Given the description of an element on the screen output the (x, y) to click on. 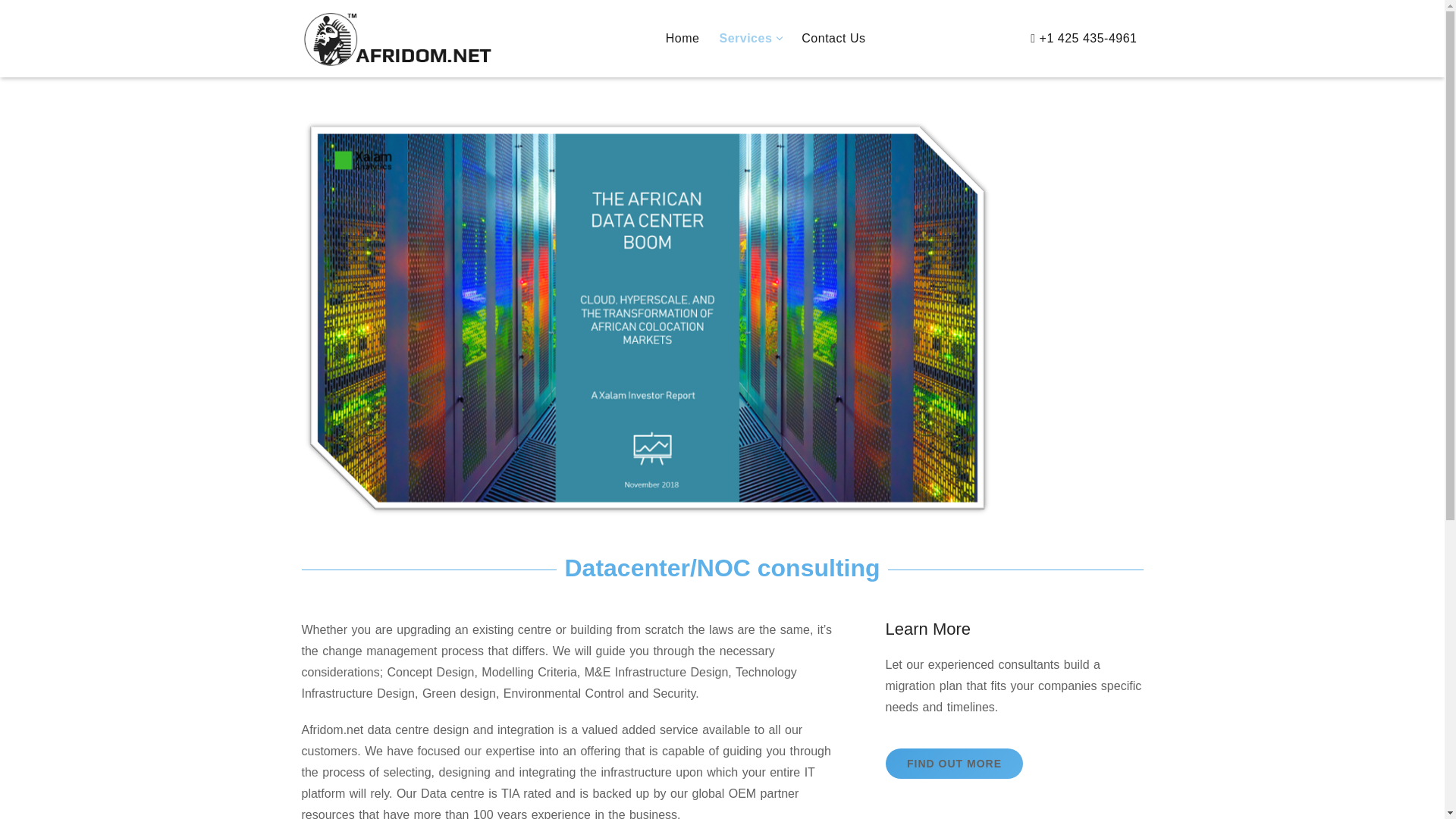
FIND OUT MORE (954, 763)
Contact Us (832, 38)
Services (745, 38)
